Given the description of an element on the screen output the (x, y) to click on. 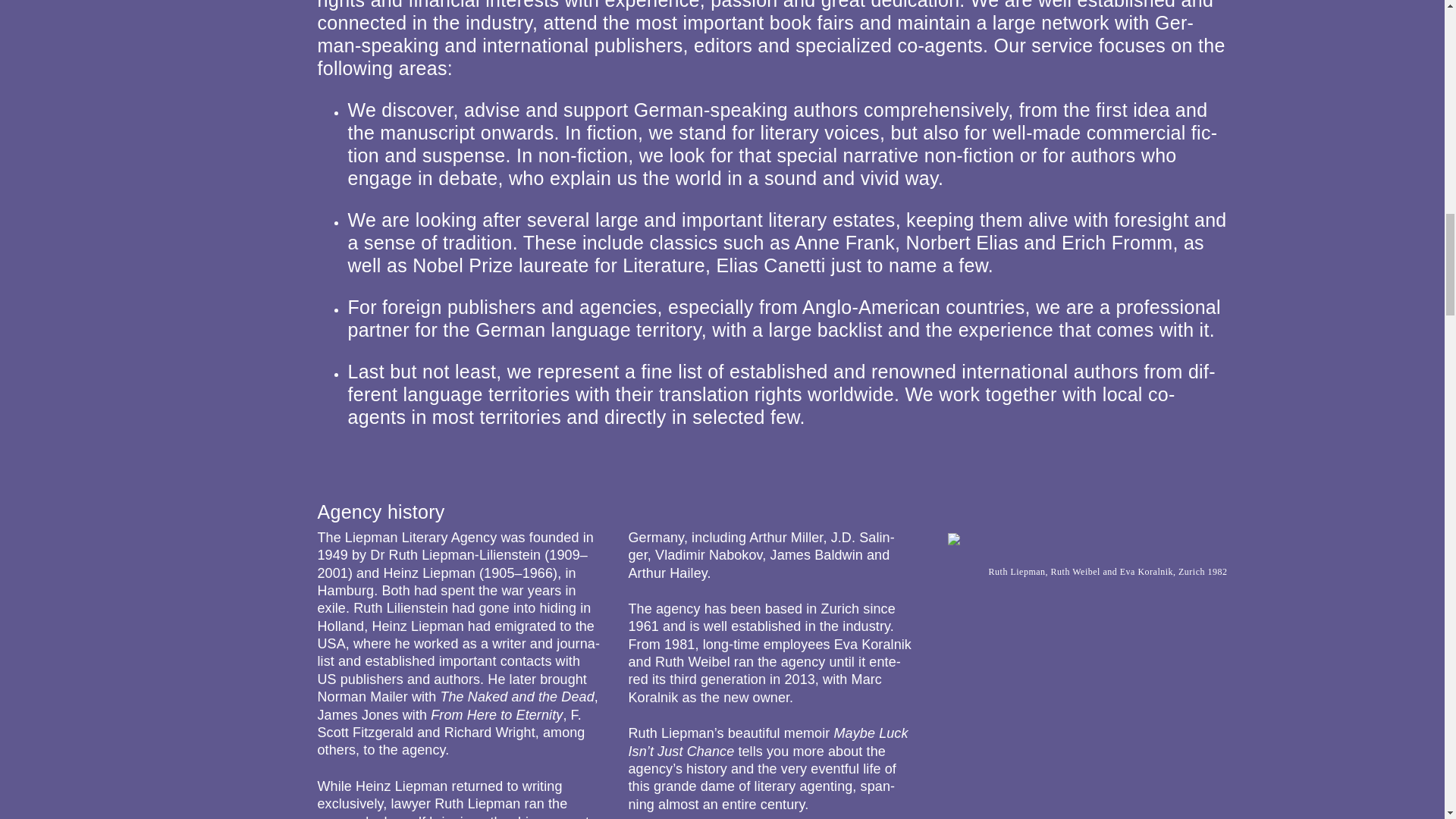
estates (863, 219)
